Given the description of an element on the screen output the (x, y) to click on. 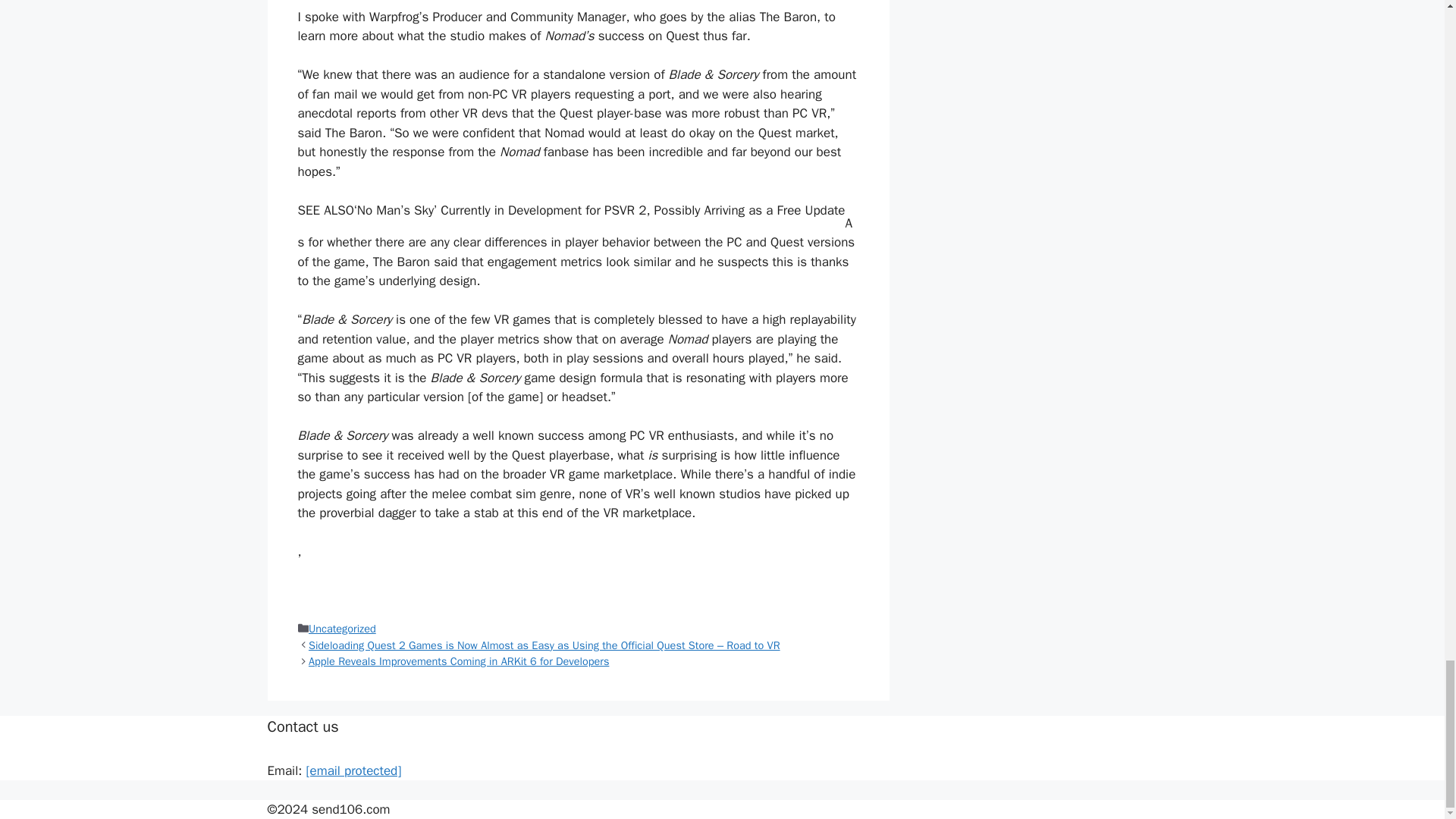
Apple Reveals Improvements Coming in ARKit 6 for Developers (458, 661)
Uncategorized (341, 628)
